Given the description of an element on the screen output the (x, y) to click on. 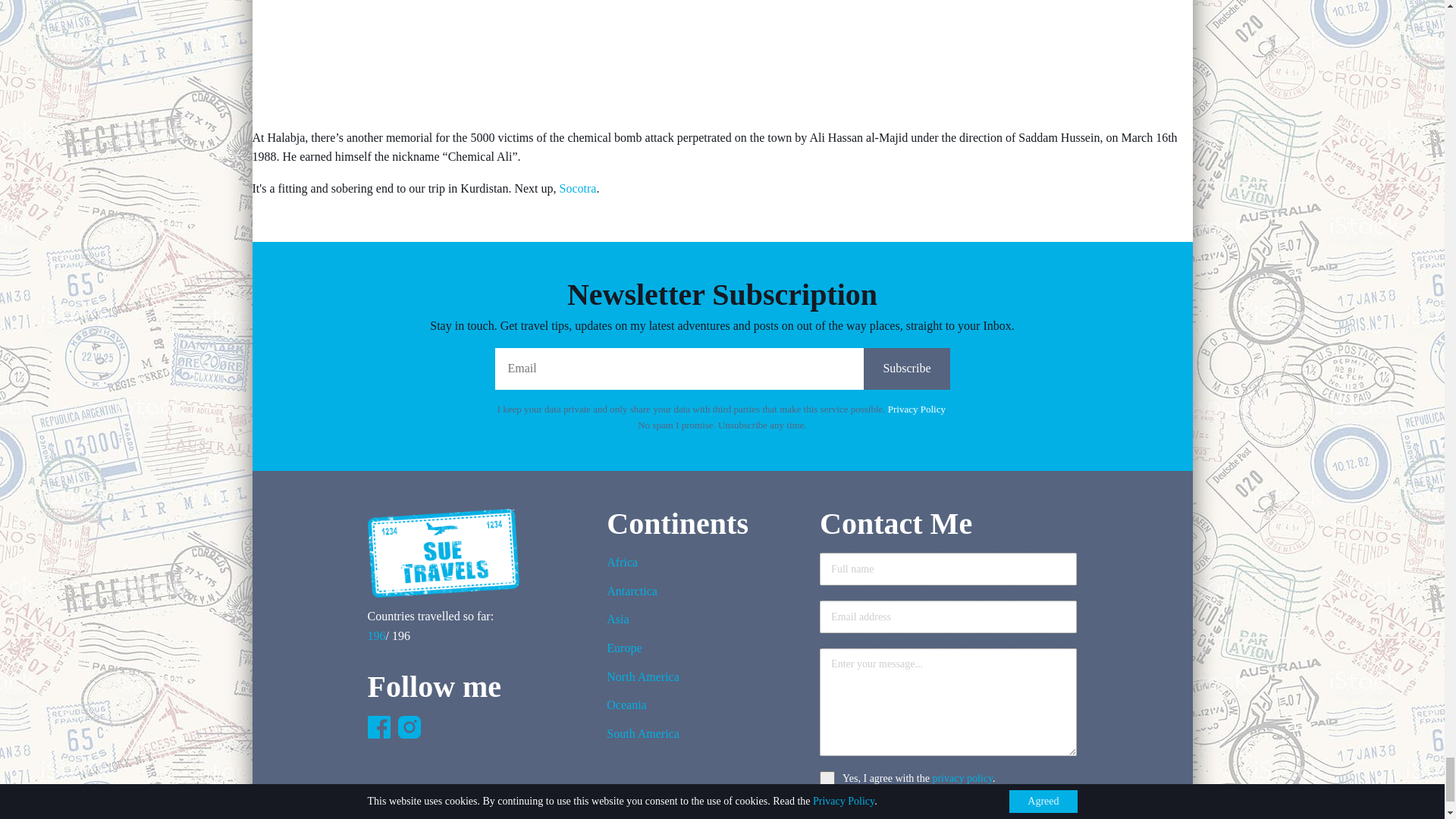
North America (643, 681)
Submit (857, 810)
privacy policy (961, 778)
Socotra (577, 187)
Privacy Policy (916, 408)
Europe (643, 652)
South America (643, 737)
Subscribe (906, 368)
Asia (643, 623)
